Given the description of an element on the screen output the (x, y) to click on. 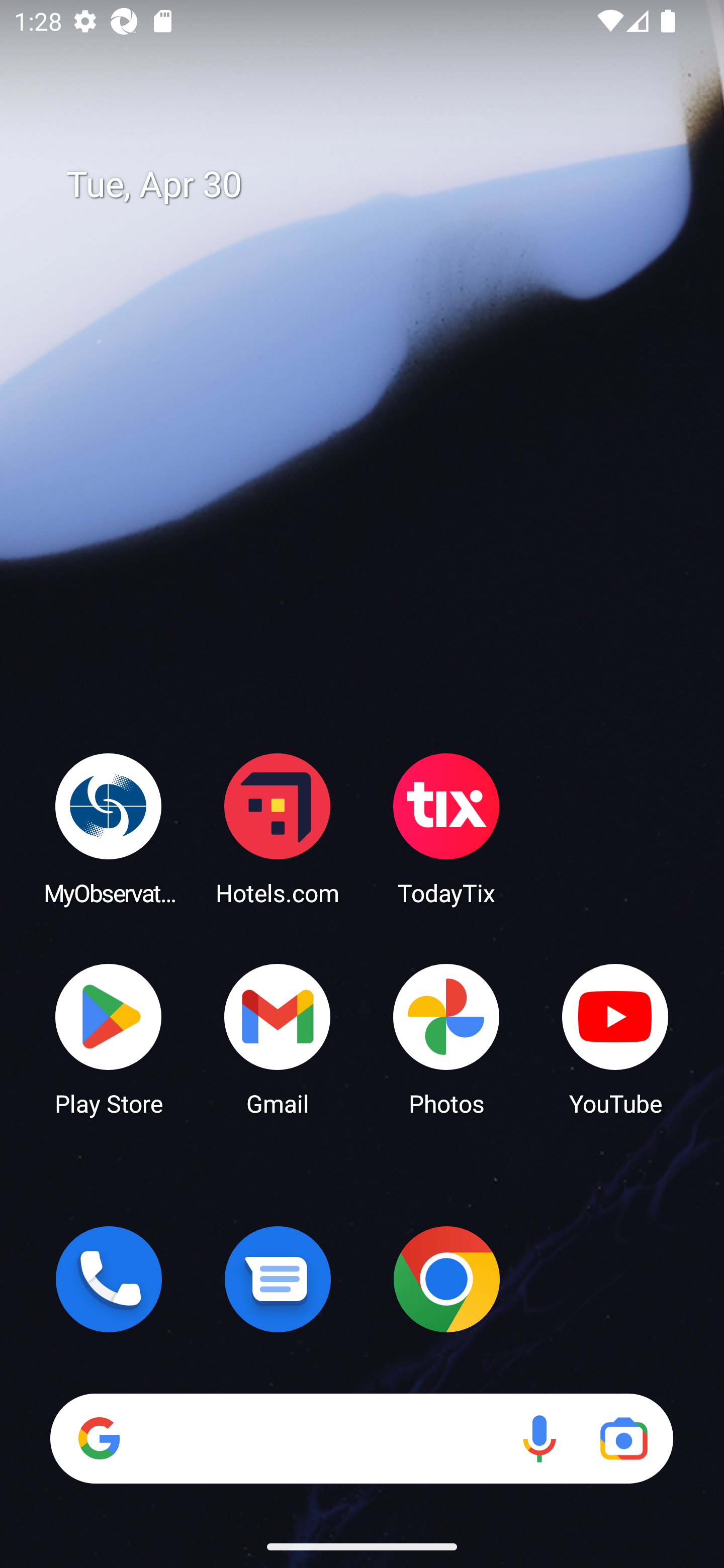
Tue, Apr 30 (375, 184)
MyObservatory (108, 828)
Hotels.com (277, 828)
TodayTix (445, 828)
Play Store (108, 1038)
Gmail (277, 1038)
Photos (445, 1038)
YouTube (615, 1038)
Phone (108, 1279)
Messages (277, 1279)
Chrome (446, 1279)
Voice search (539, 1438)
Google Lens (623, 1438)
